Given the description of an element on the screen output the (x, y) to click on. 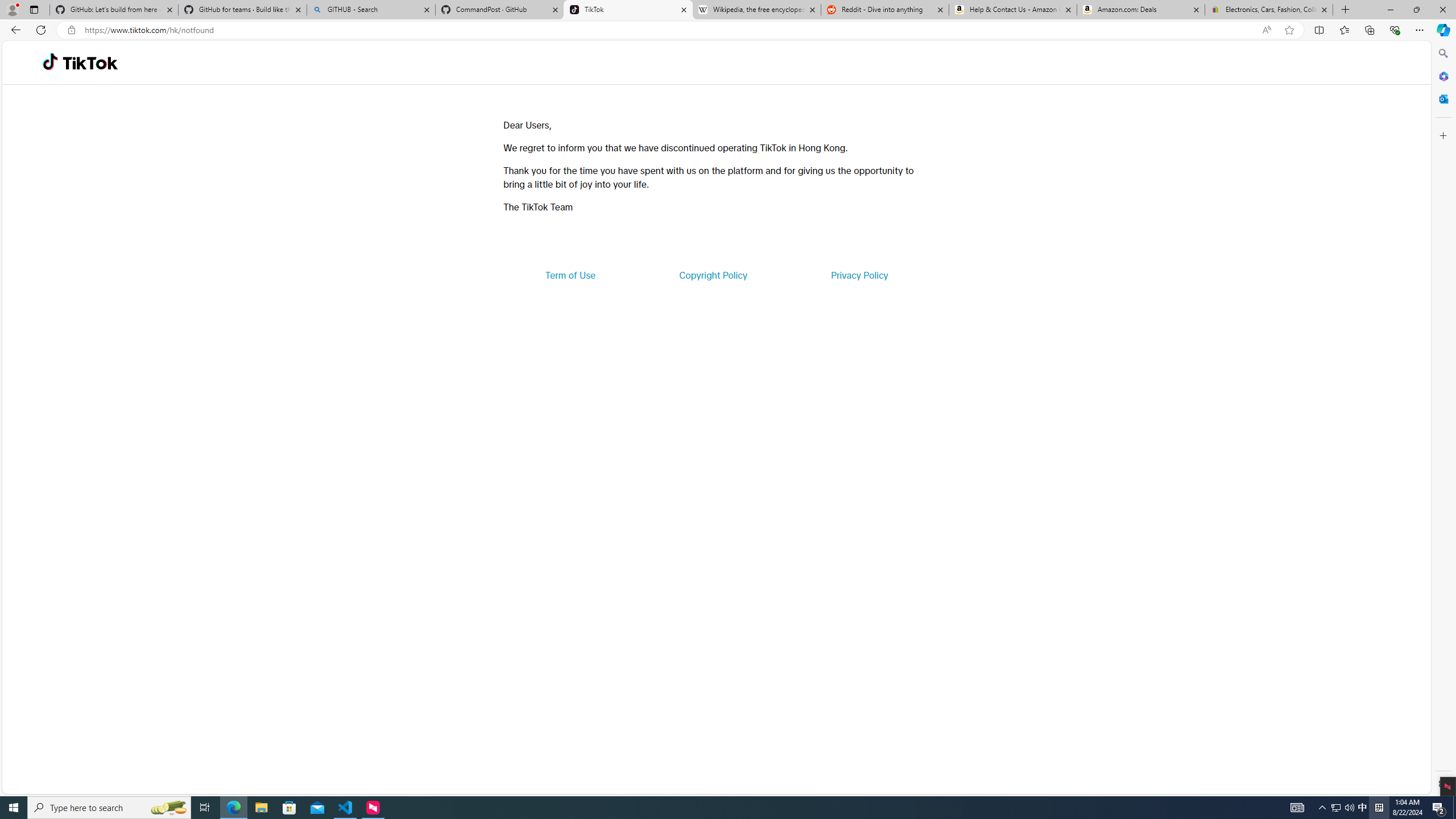
Term of Use (569, 274)
TikTok (628, 9)
TikTok (89, 62)
